Given the description of an element on the screen output the (x, y) to click on. 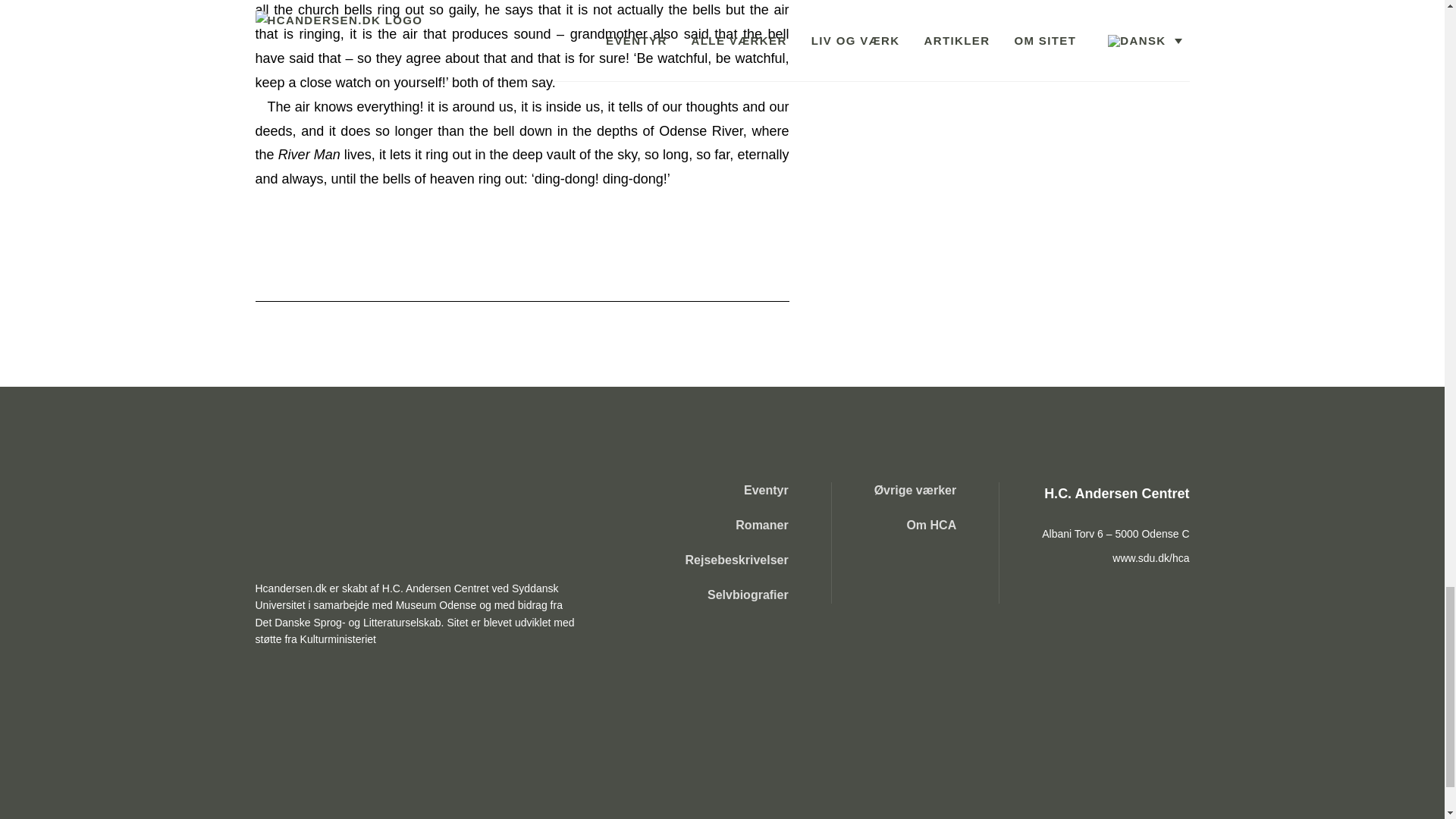
Romaner (737, 524)
Selvbiografier (737, 595)
Eventyr (737, 490)
Rejsebeskrivelser (737, 560)
Om HCA (915, 524)
